Given the description of an element on the screen output the (x, y) to click on. 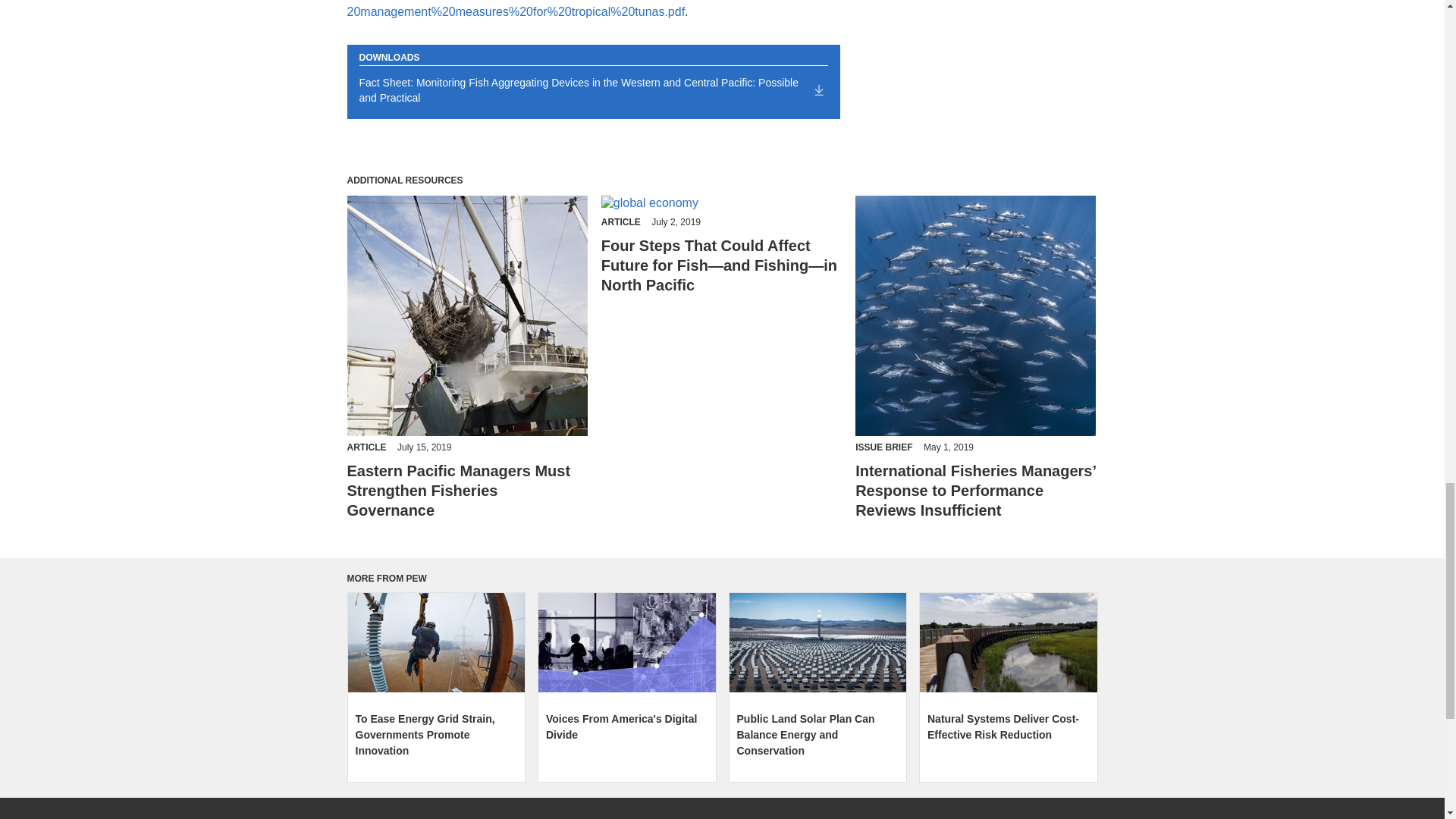
global economy (722, 202)
RFMO (976, 315)
Solar panels in a desert in front of a mountain (818, 642)
Tuna (467, 315)
